Given the description of an element on the screen output the (x, y) to click on. 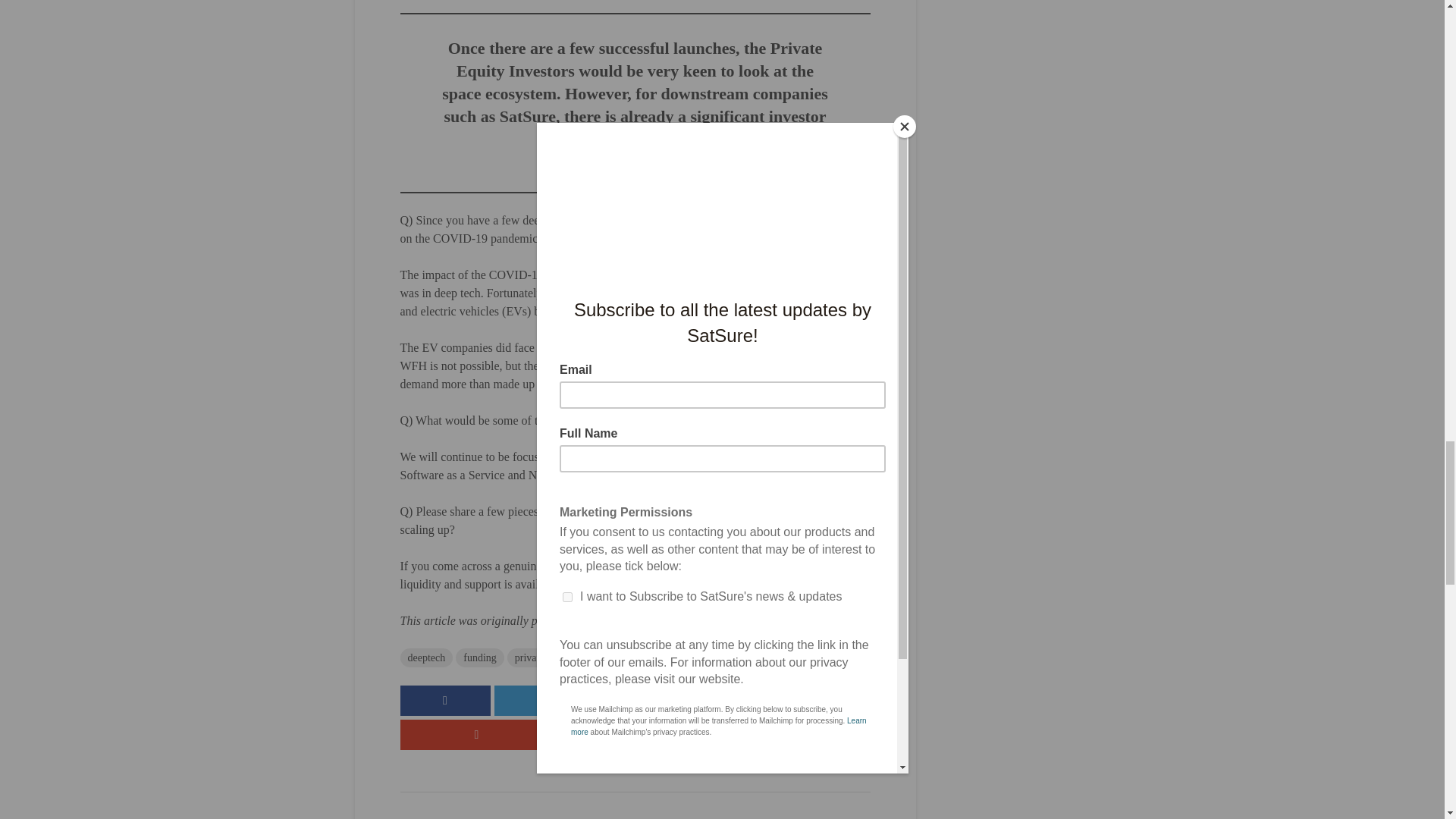
deeptech (426, 657)
